Given the description of an element on the screen output the (x, y) to click on. 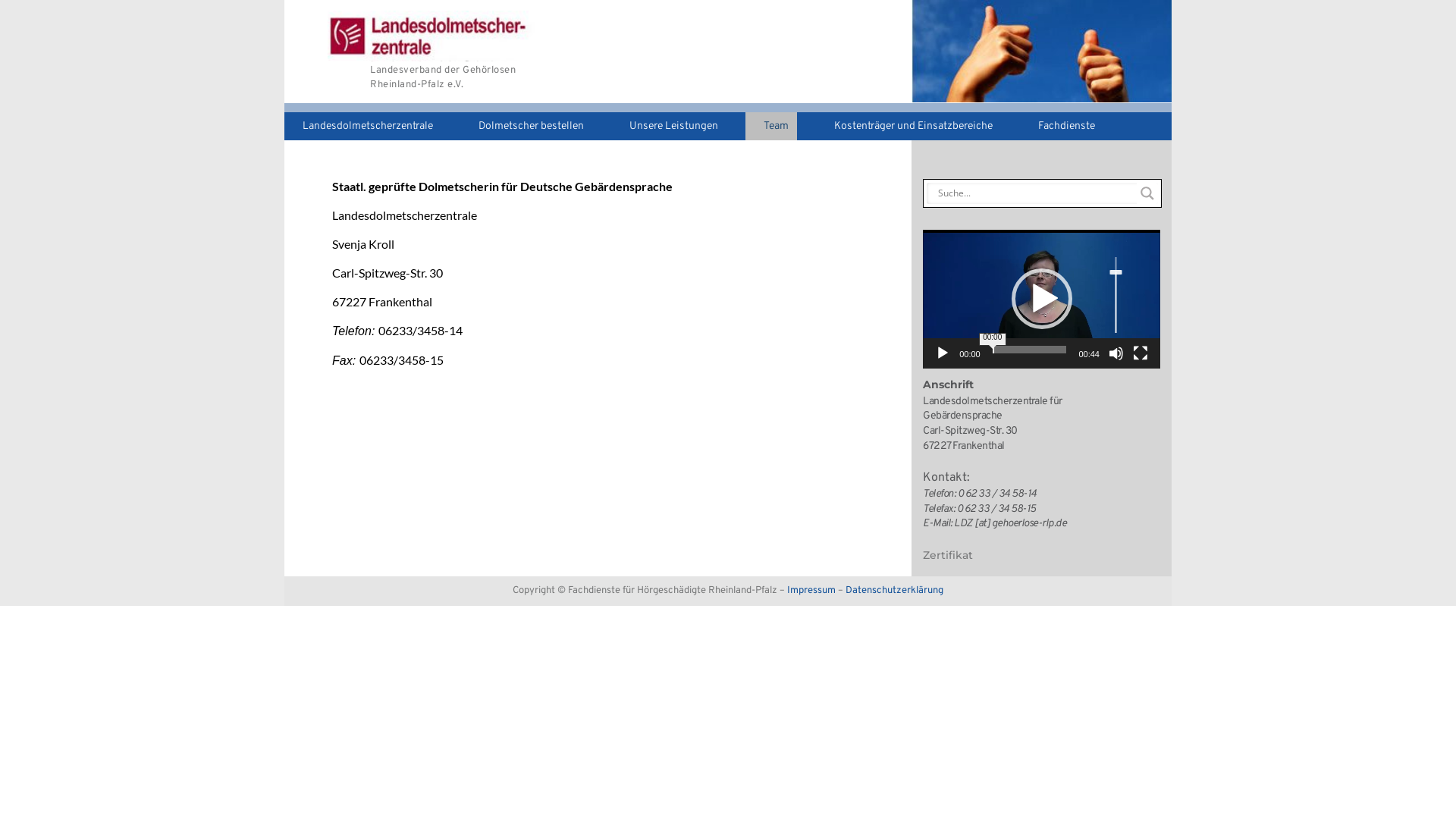
Landesdolmetscherzentrale Element type: text (362, 126)
Fullscreen Element type: hover (1140, 352)
Play Element type: hover (942, 352)
Fachdienste Element type: text (1061, 126)
Mute Element type: hover (1115, 352)
Team Element type: text (771, 126)
Dolmetscher bestellen Element type: text (526, 126)
Unsere Leistungen Element type: text (668, 126)
Use Up/Down Arrow keys to increase or decrease volume. Element type: text (1115, 294)
Impressum  Element type: text (812, 590)
